Given the description of an element on the screen output the (x, y) to click on. 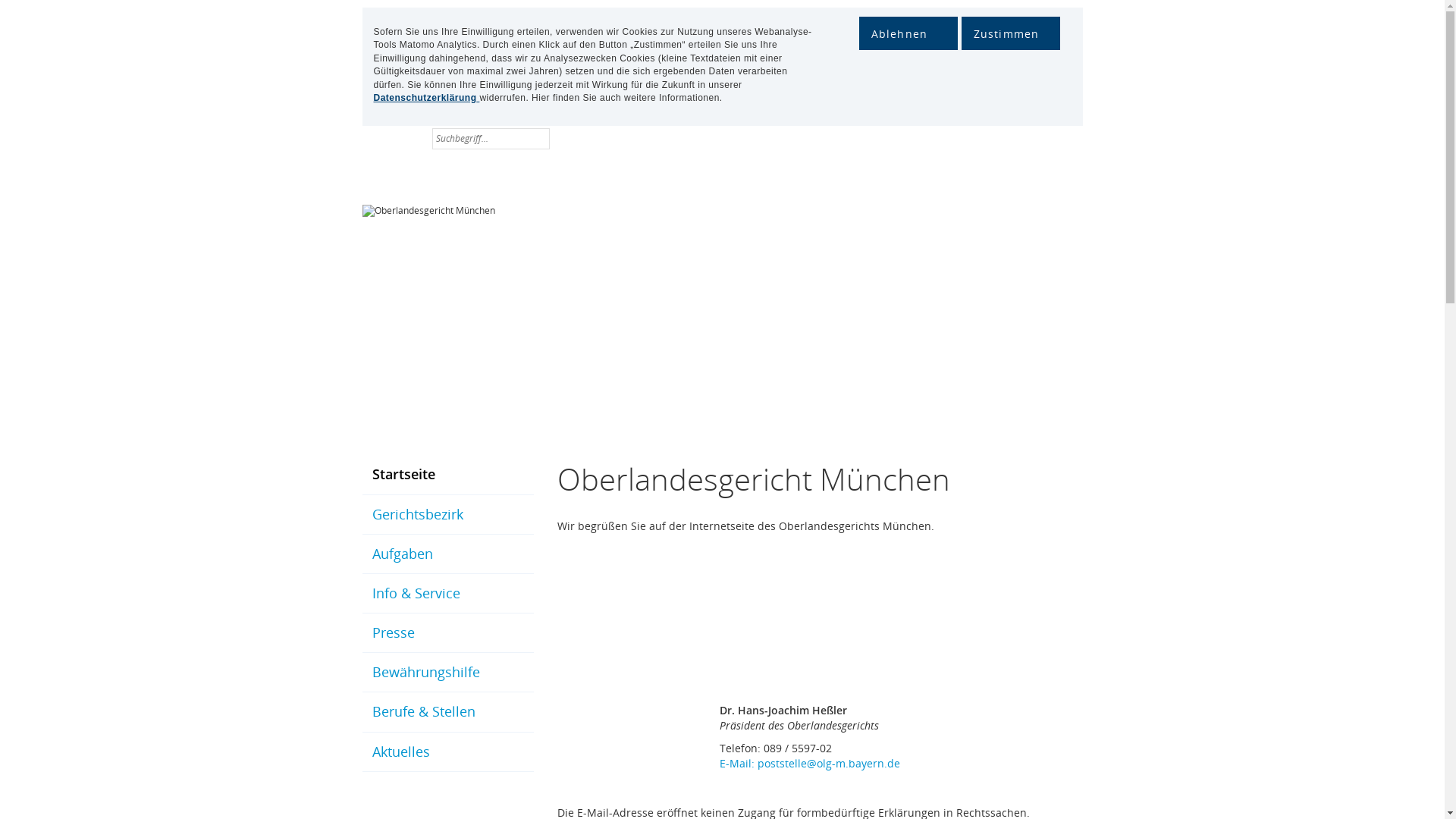
Aufgaben Element type: text (447, 553)
Startseite Element type: text (447, 474)
Zustimmen Element type: text (1010, 33)
Seite vorlesen lassen [Alt-L] Element type: hover (412, 137)
Gerichtsbezirk Element type: text (447, 514)
Suche starten Element type: hover (538, 143)
Ablehnen Element type: text (907, 33)
E-Mail: poststelle@olg-m.bayern.de Element type: text (809, 763)
Suchen Element type: text (538, 143)
Info & Service Element type: text (447, 593)
Aktuelles Element type: text (447, 751)
Leichte Sprache Element type: hover (390, 137)
Presse Element type: text (447, 632)
Berufe & Stellen Element type: text (447, 711)
